Given the description of an element on the screen output the (x, y) to click on. 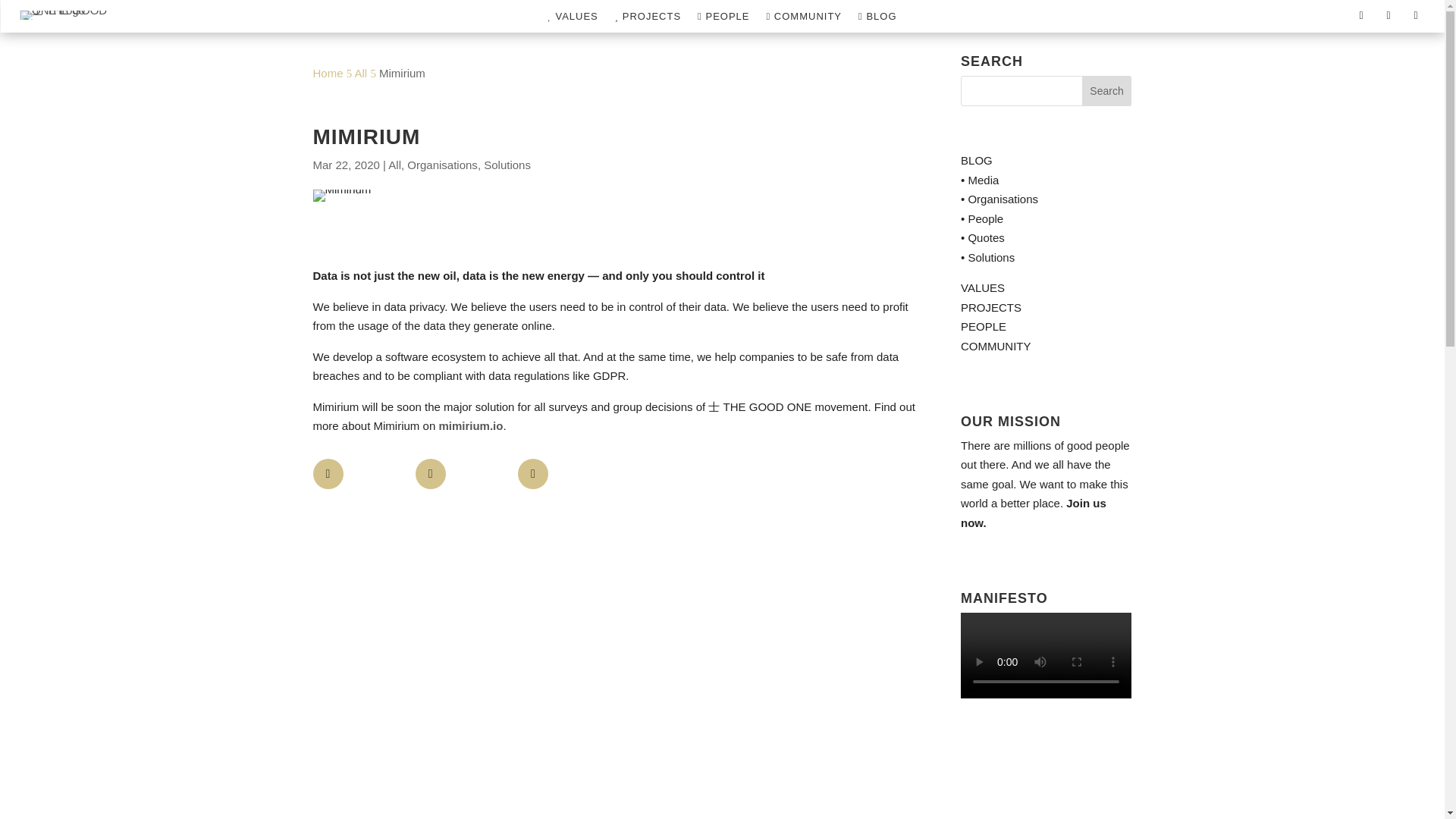
COMMUNITY (995, 345)
PEOPLE (983, 326)
mimirium.io (470, 425)
VALUES (982, 287)
COMMUNITY (803, 19)
PROJECTS (991, 307)
BLOG (877, 19)
Mimirium (342, 195)
All (361, 72)
YOU ARE NOT ALONE.  (803, 19)
Join us now. (1033, 512)
Follow on Instagram (1415, 15)
Search (1106, 91)
BE STRONG. (571, 19)
Follow on X (1388, 15)
